Given the description of an element on the screen output the (x, y) to click on. 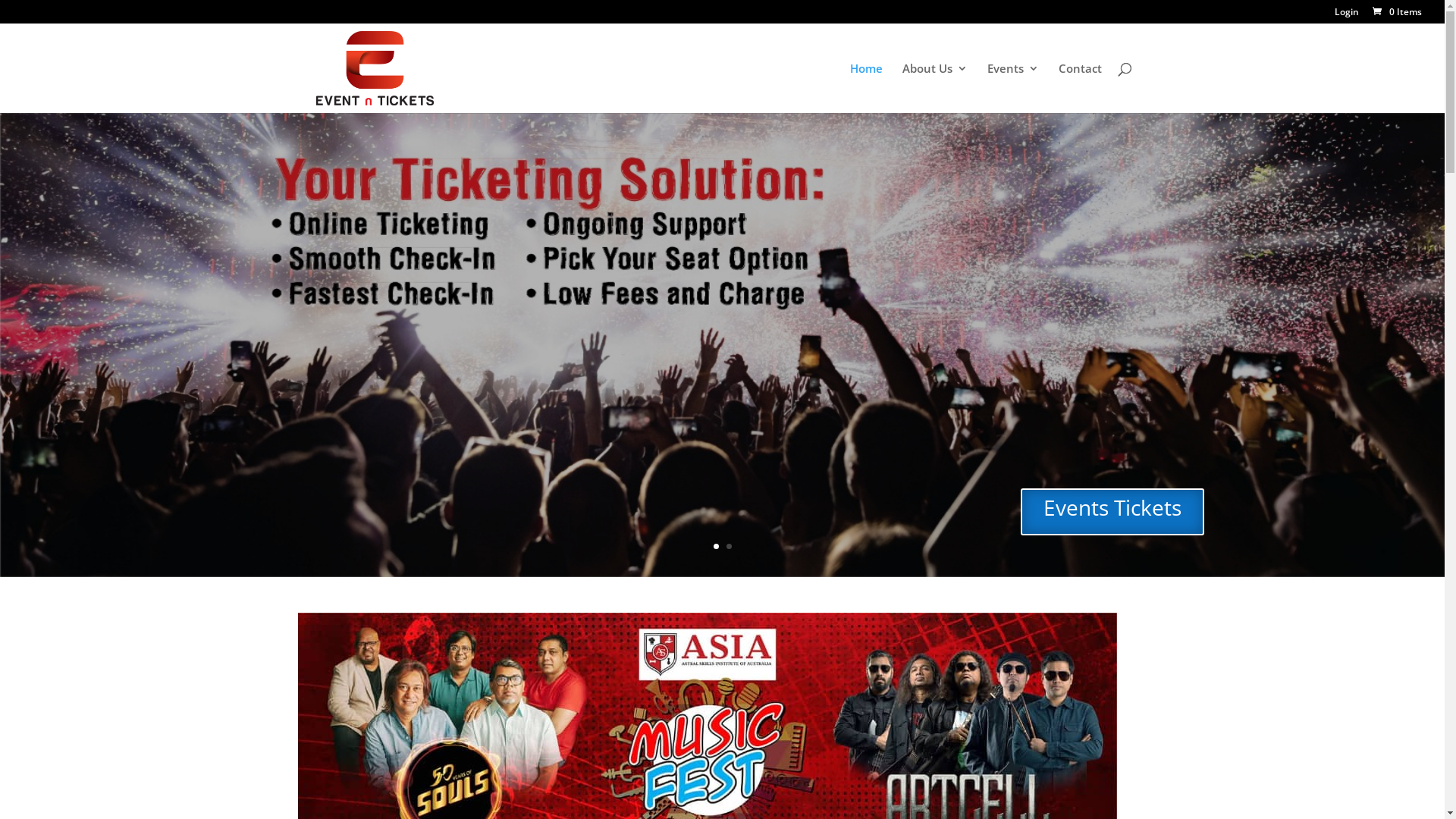
Events Tickets Element type: text (1112, 511)
2 Element type: text (728, 546)
Contact Element type: text (1079, 87)
1 Element type: text (715, 546)
Events Element type: text (1012, 87)
Login Element type: text (1346, 15)
Home Element type: text (865, 87)
About Us Element type: text (934, 87)
0 Items Element type: text (1395, 11)
